Given the description of an element on the screen output the (x, y) to click on. 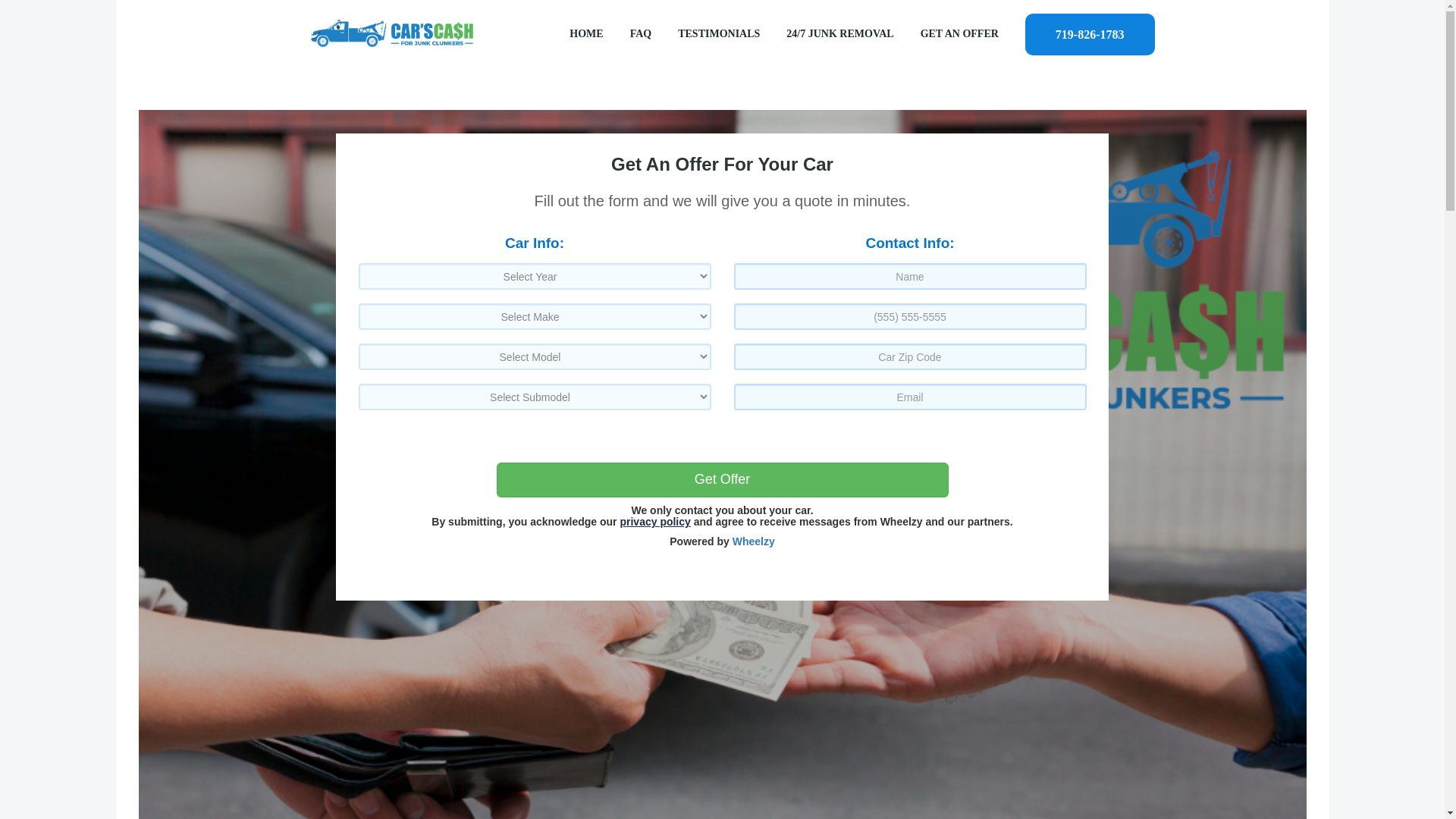
719-826-1783 (1089, 33)
GET AN OFFER (959, 33)
TESTIMONIALS (719, 33)
